Given the description of an element on the screen output the (x, y) to click on. 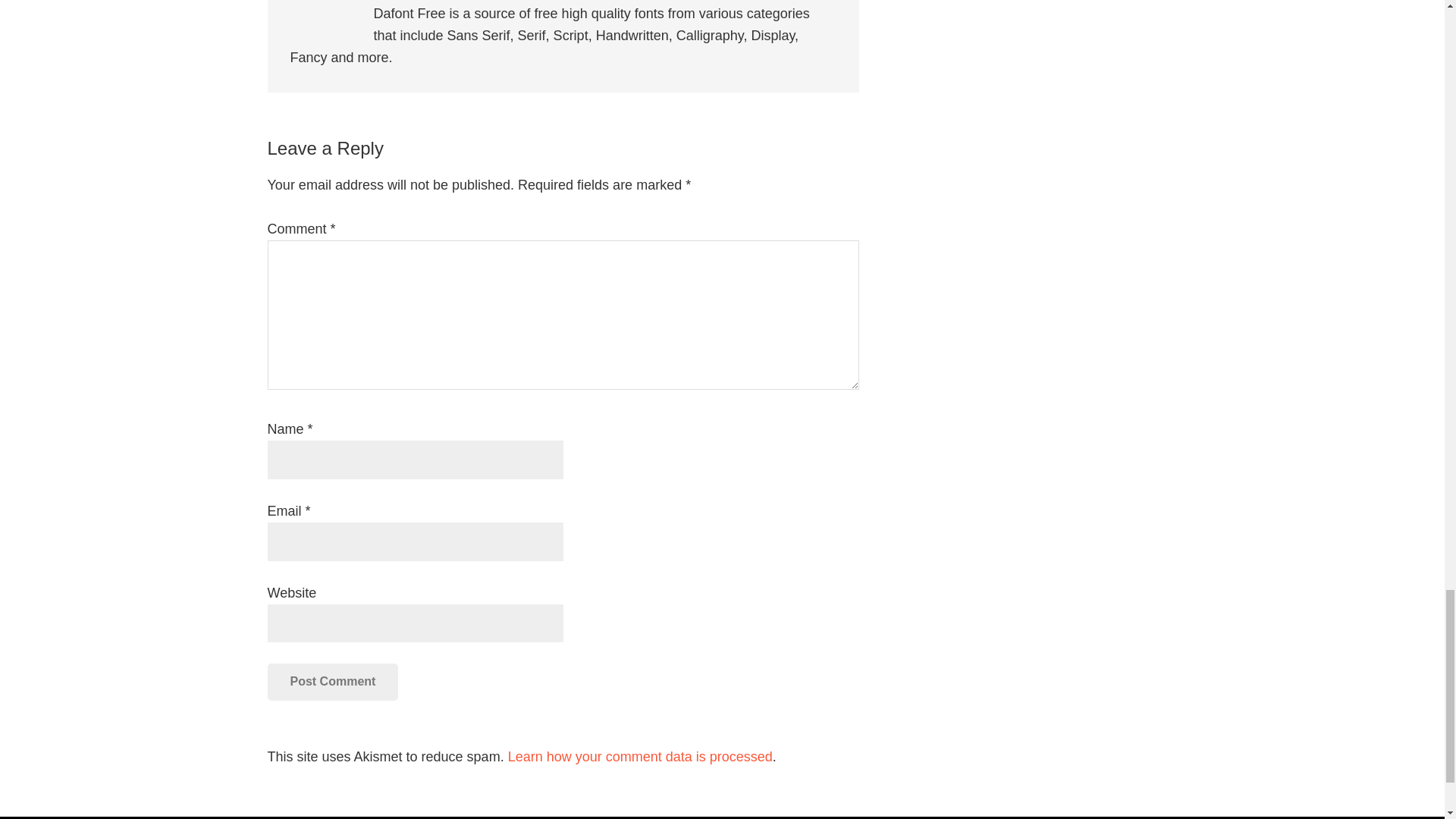
Learn how your comment data is processed (640, 756)
Post Comment (331, 681)
Post Comment (331, 681)
